Given the description of an element on the screen output the (x, y) to click on. 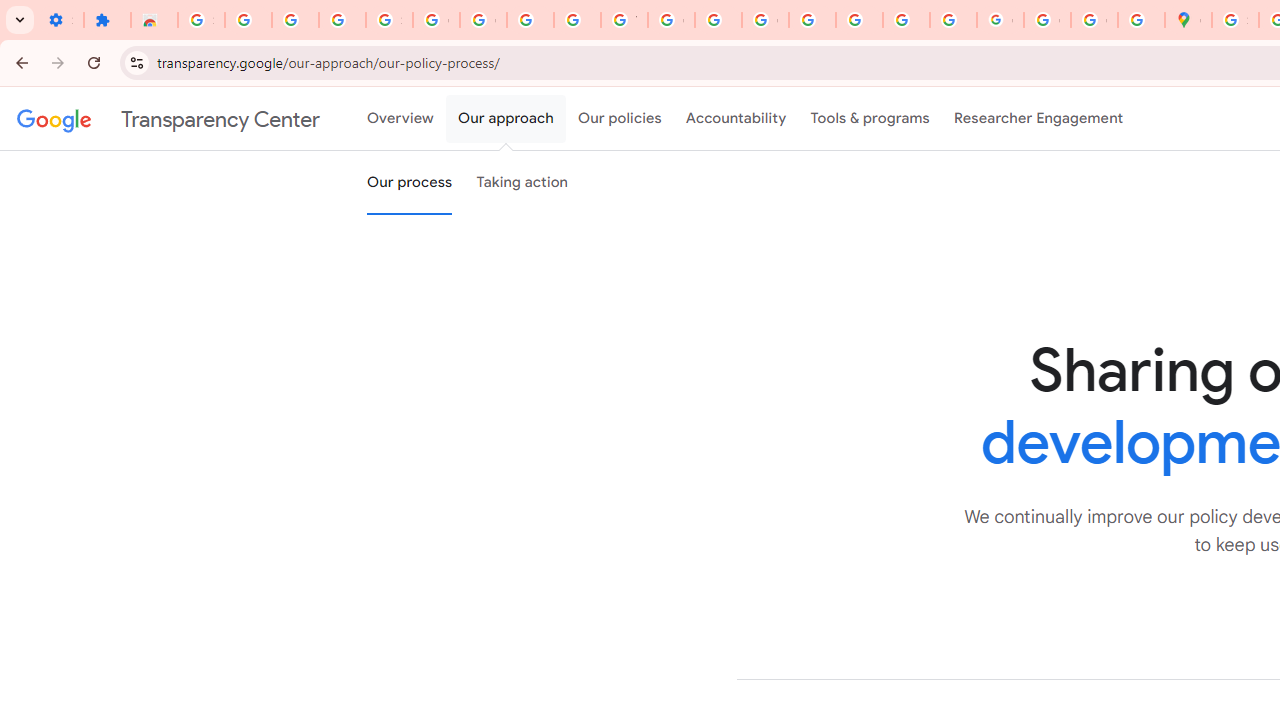
Delete photos & videos - Computer - Google Photos Help (248, 20)
Sign in - Google Accounts (201, 20)
Reviews: Helix Fruit Jump Arcade Game (153, 20)
Accountability (735, 119)
Researcher Engagement (1038, 119)
